Given the description of an element on the screen output the (x, y) to click on. 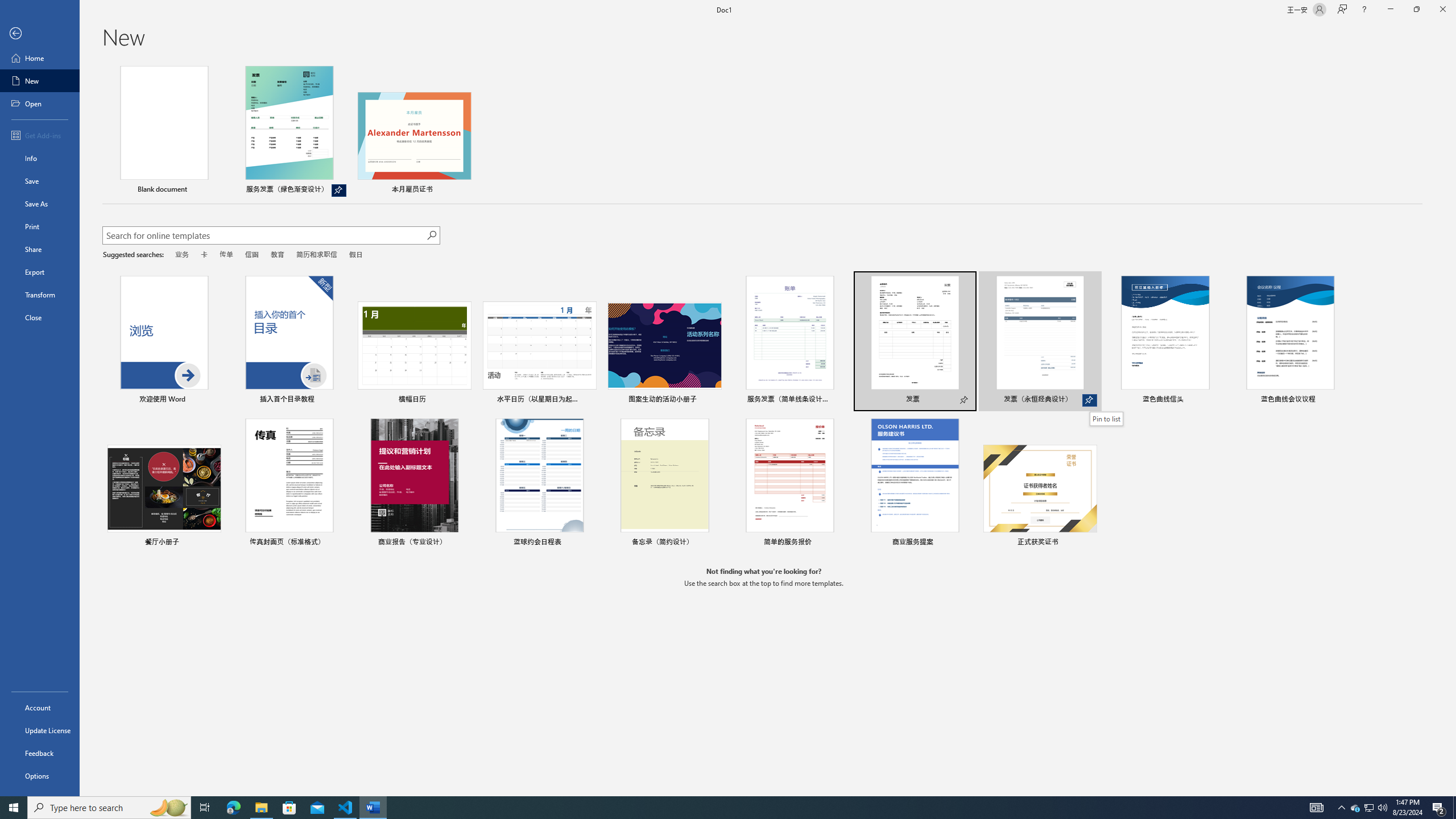
Feedback (40, 753)
Back (40, 33)
Account (40, 707)
Pin to list (1089, 543)
Search for online templates (264, 237)
